Given the description of an element on the screen output the (x, y) to click on. 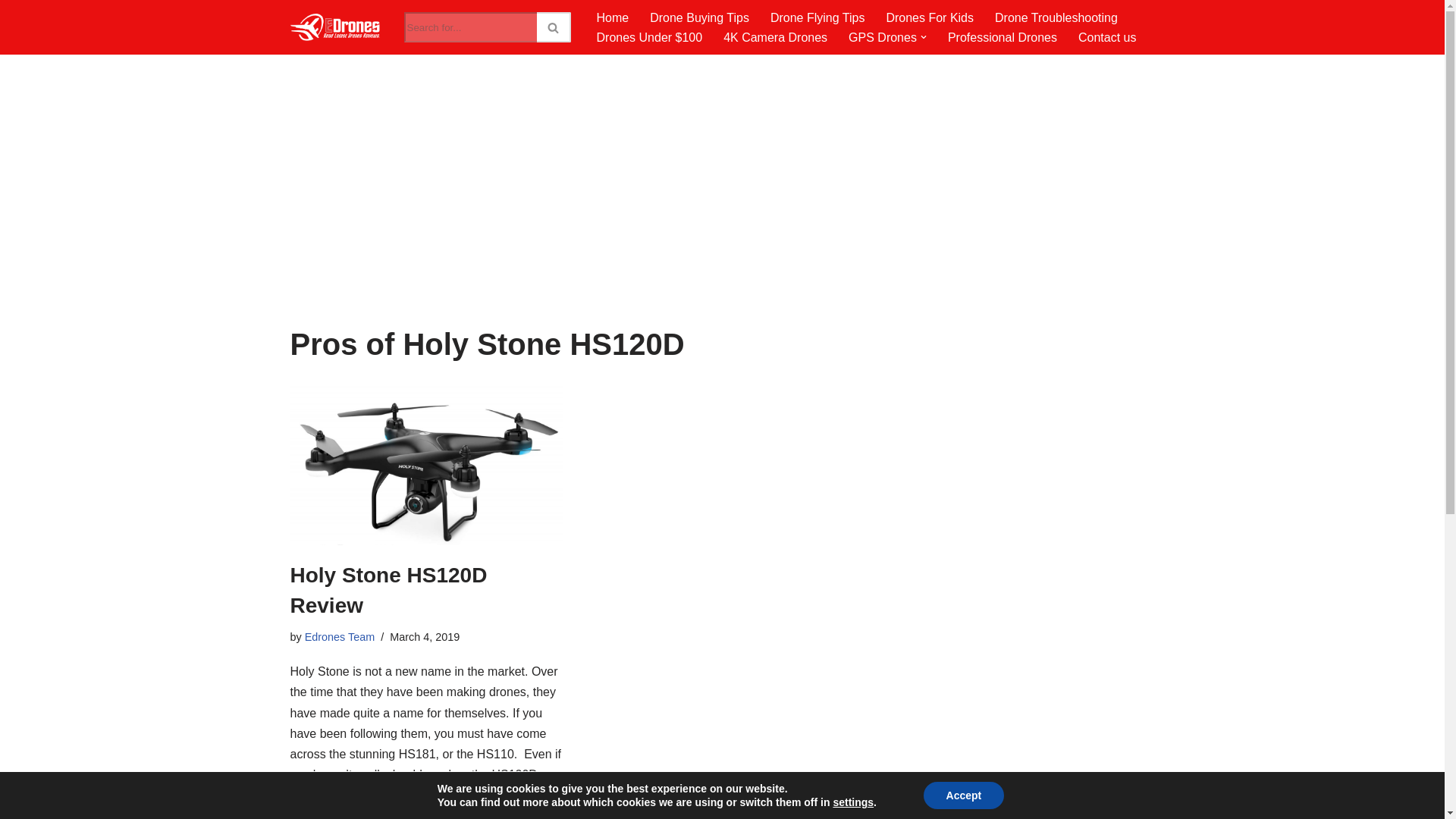
GPS Drones (882, 37)
Drones For Kids (929, 17)
Professional Drones (1002, 37)
Home (611, 17)
Posts by Edrones Team (339, 636)
Drone Flying Tips (817, 17)
Drone Buying Tips (699, 17)
4K Camera Drones (775, 37)
Holy Stone HS120D Review (425, 464)
Contact us (1106, 37)
Drone Troubleshooting (1056, 17)
Skip to content (11, 31)
